Given the description of an element on the screen output the (x, y) to click on. 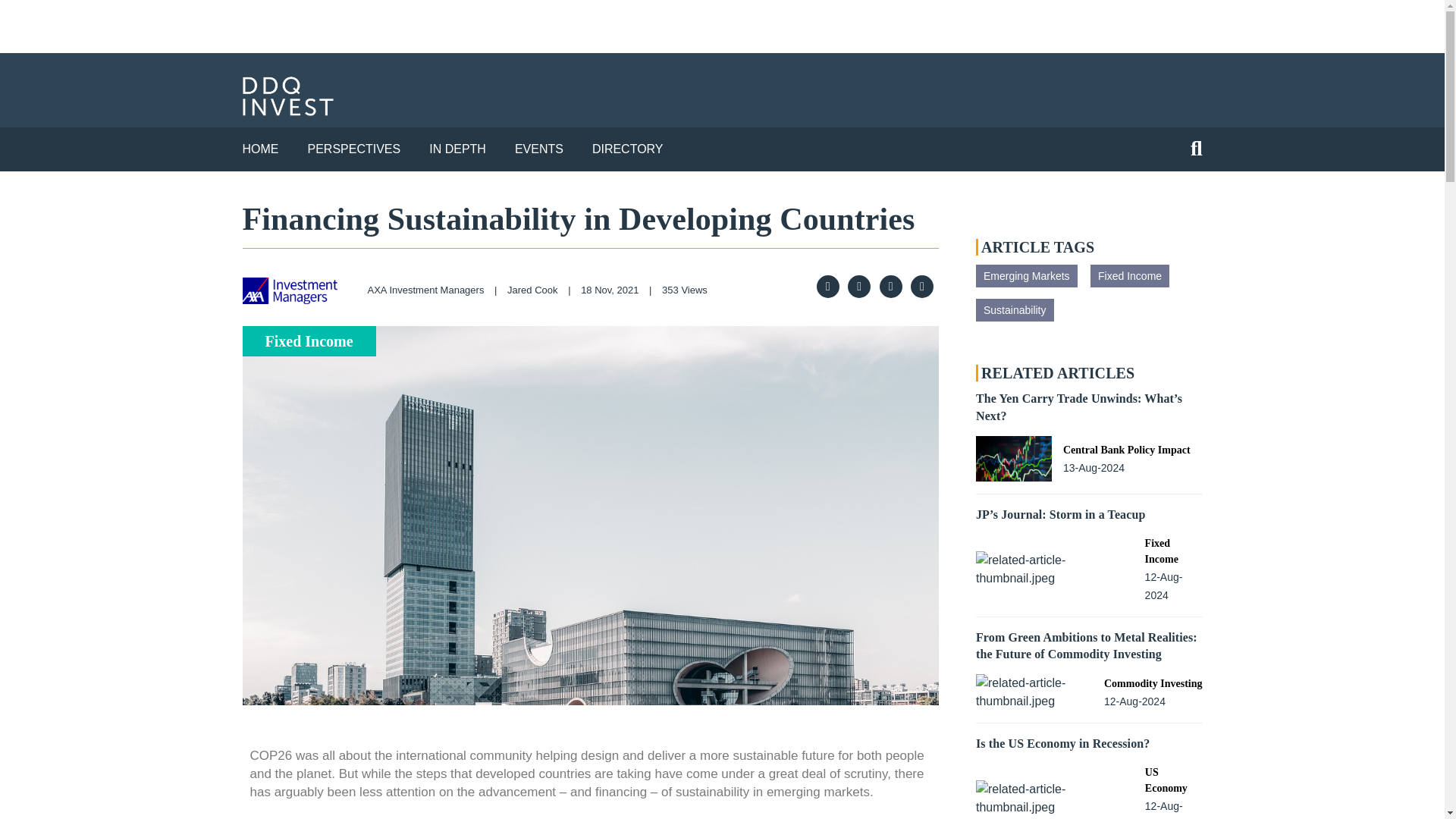
Fixed Income (1173, 551)
Commodity Investing (1152, 683)
Sustainability (1014, 309)
IN DEPTH (457, 149)
Emerging Markets (1026, 275)
PERSPECTIVES (354, 149)
Fixed Income (1129, 275)
Central Bank Policy Impact (1126, 449)
Is the US Economy in Recession? (1062, 743)
EVENTS (539, 149)
